Given the description of an element on the screen output the (x, y) to click on. 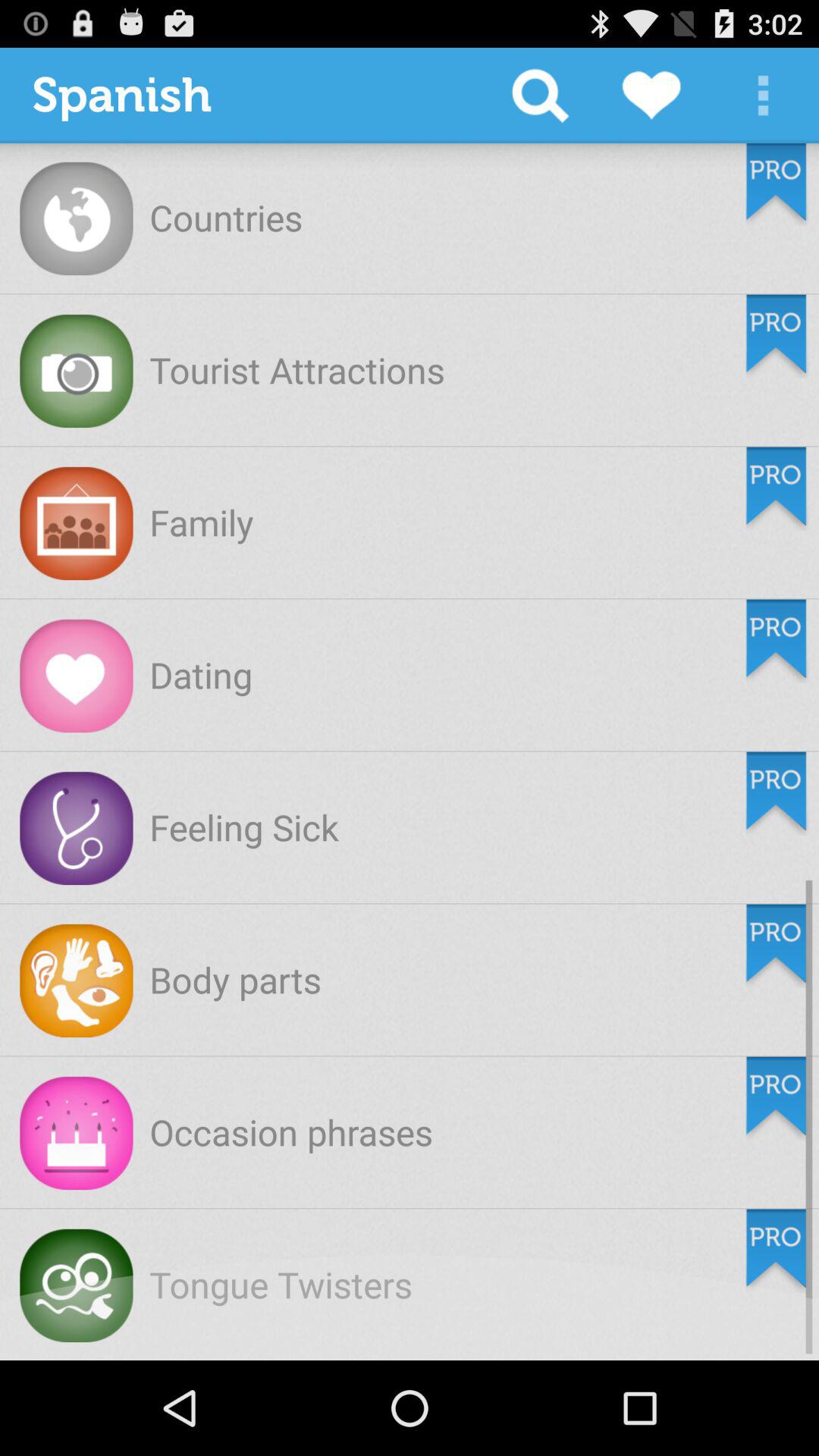
flip to the tourist attractions (296, 369)
